Given the description of an element on the screen output the (x, y) to click on. 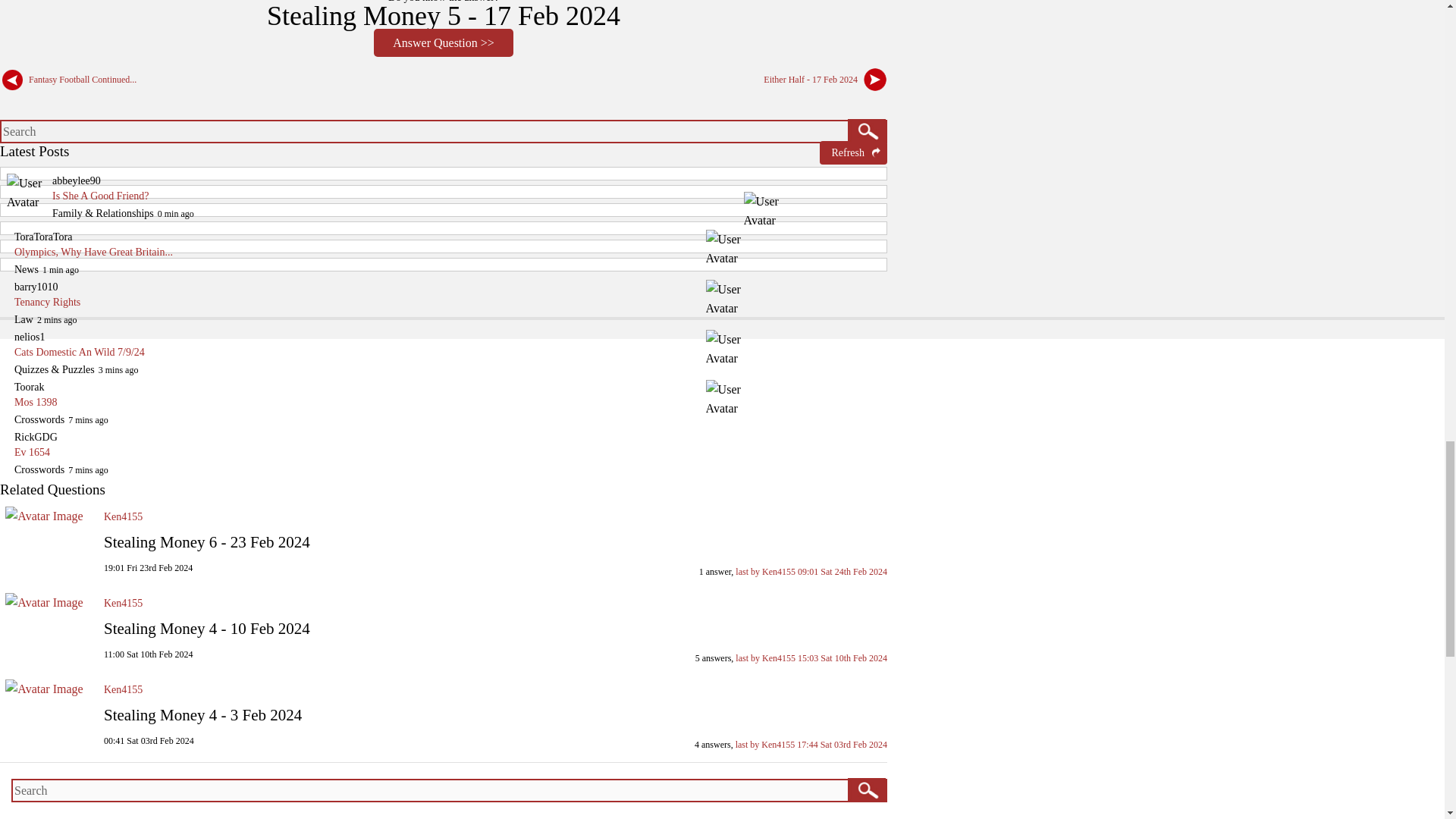
GO (866, 789)
GO (866, 789)
GO (866, 129)
GO (866, 129)
